Given the description of an element on the screen output the (x, y) to click on. 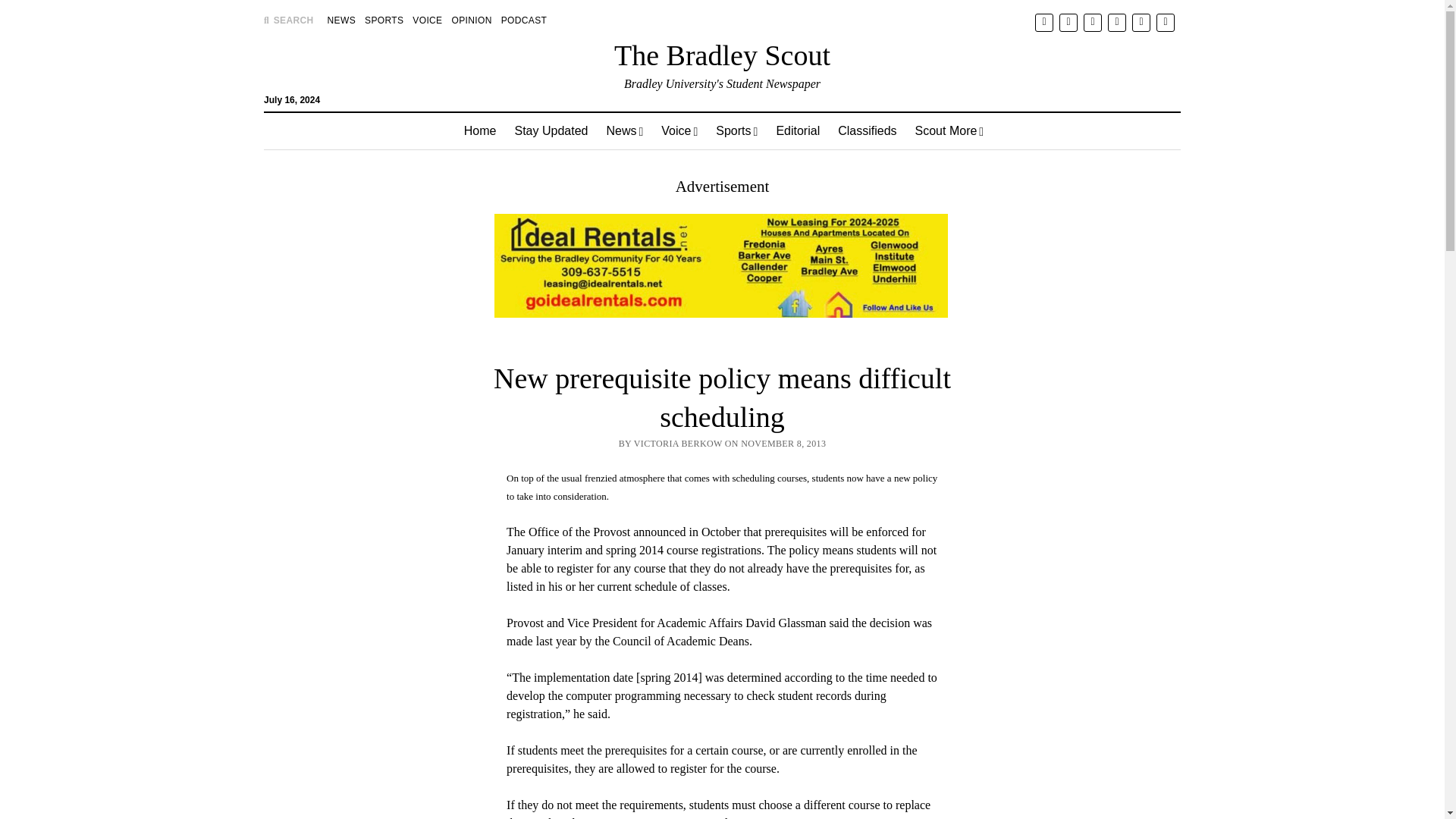
Classifieds (866, 131)
OPINION (471, 20)
VOICE (427, 20)
News (624, 131)
Voice (679, 131)
Editorial (797, 131)
Scout More (948, 131)
NEWS (341, 20)
The Bradley Scout (721, 55)
SEARCH (288, 20)
SPORTS (384, 20)
Search (945, 129)
Home (479, 131)
Stay Updated (550, 131)
PODCAST (523, 20)
